Given the description of an element on the screen output the (x, y) to click on. 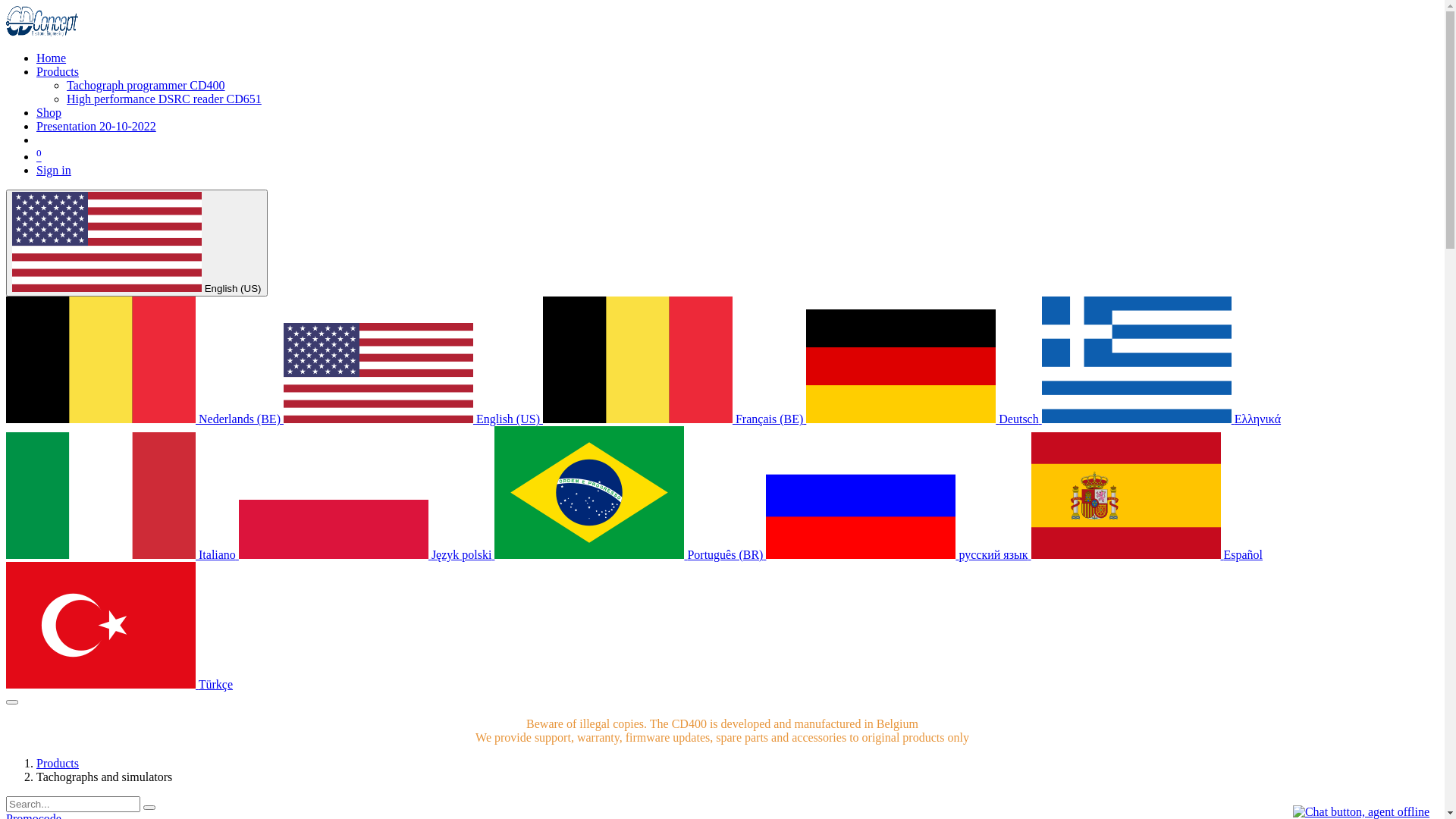
Products Element type: text (57, 762)
Shop Element type: text (48, 112)
Search Element type: hover (149, 807)
0 Element type: text (38, 156)
Italiano Element type: text (122, 554)
Sign in Element type: text (53, 169)
Nederlands (BE) Element type: text (144, 418)
English (US) Element type: text (136, 242)
Tachograph programmer CD400 Element type: text (145, 84)
Deutsch Element type: text (923, 418)
Presentation 20-10-2022 Element type: text (96, 125)
High performance DSRC reader CD651 Element type: text (163, 98)
English (US) Element type: text (412, 418)
Products Element type: text (57, 71)
Home Element type: text (50, 57)
www.cdconcept.be Element type: hover (42, 31)
